Given the description of an element on the screen output the (x, y) to click on. 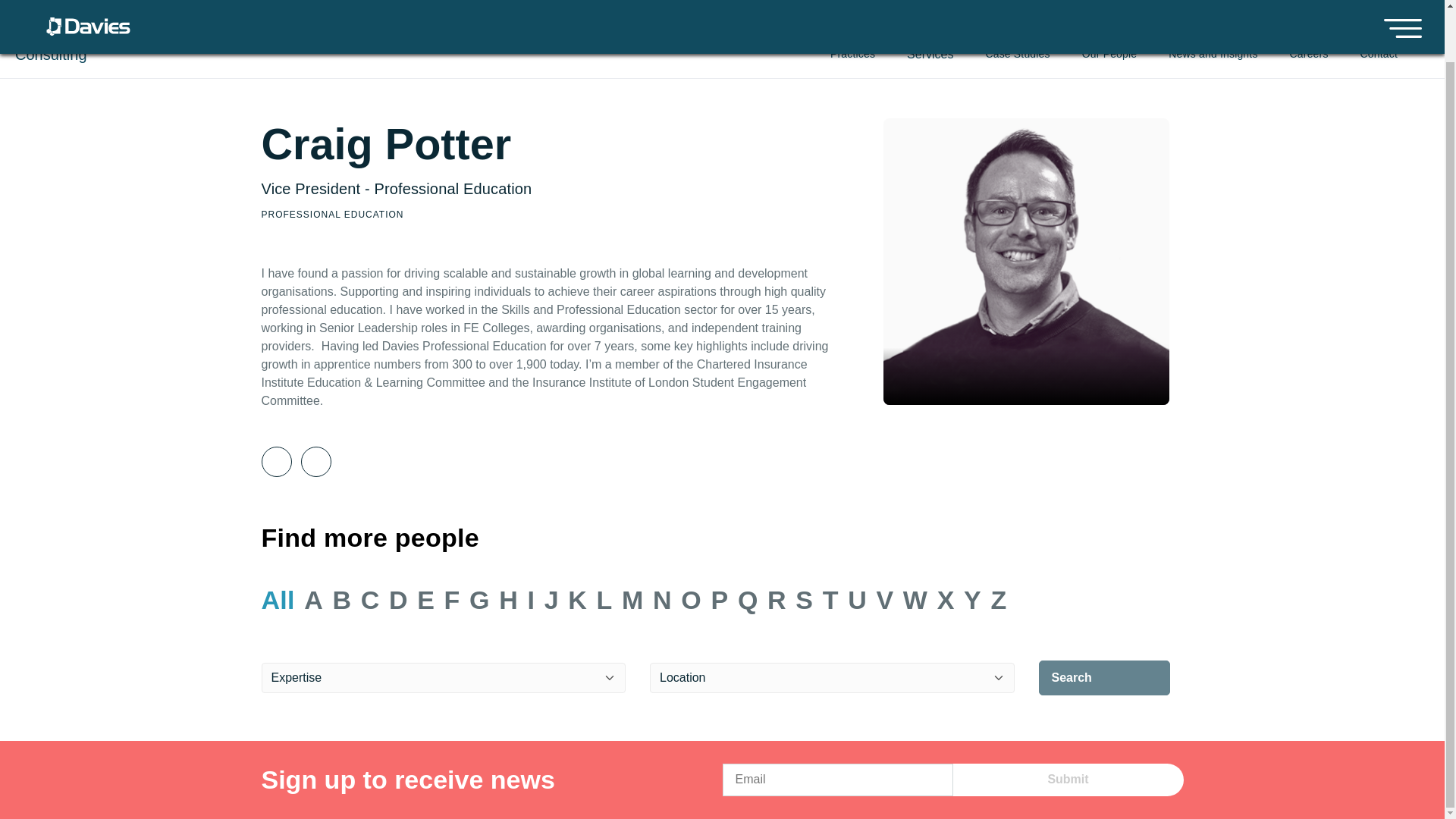
Davies (88, 494)
